Given the description of an element on the screen output the (x, y) to click on. 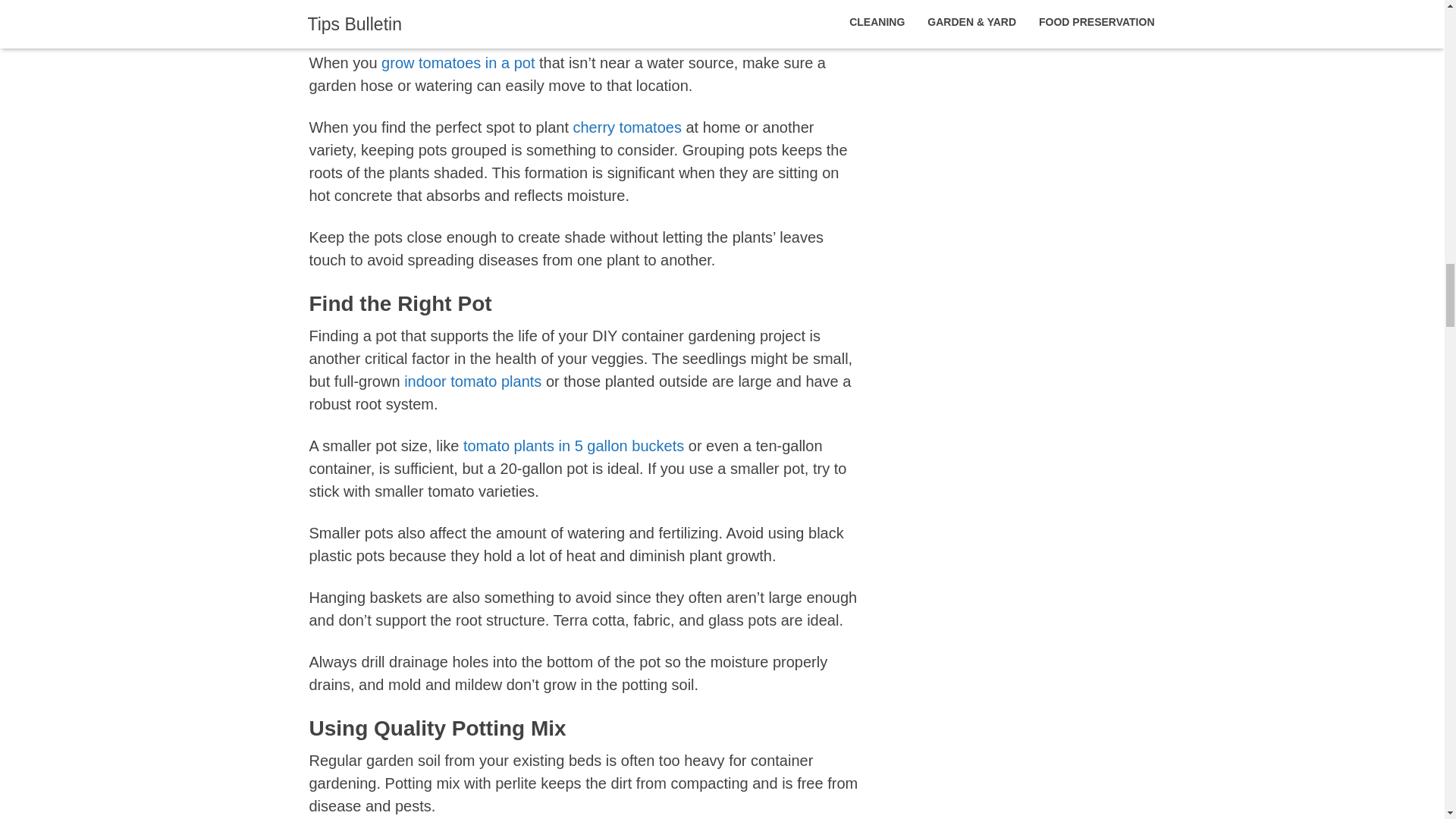
tomato plants in 5 gallon buckets (573, 445)
cherry tomatoes (627, 126)
indoor tomato plants (472, 381)
grow tomatoes in a pot (457, 62)
